Given the description of an element on the screen output the (x, y) to click on. 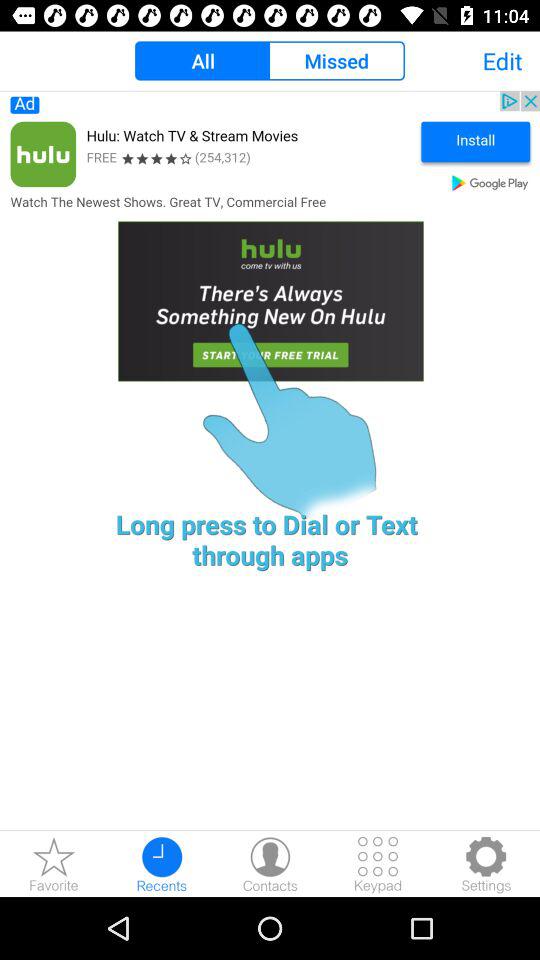
advert banner (270, 255)
